Given the description of an element on the screen output the (x, y) to click on. 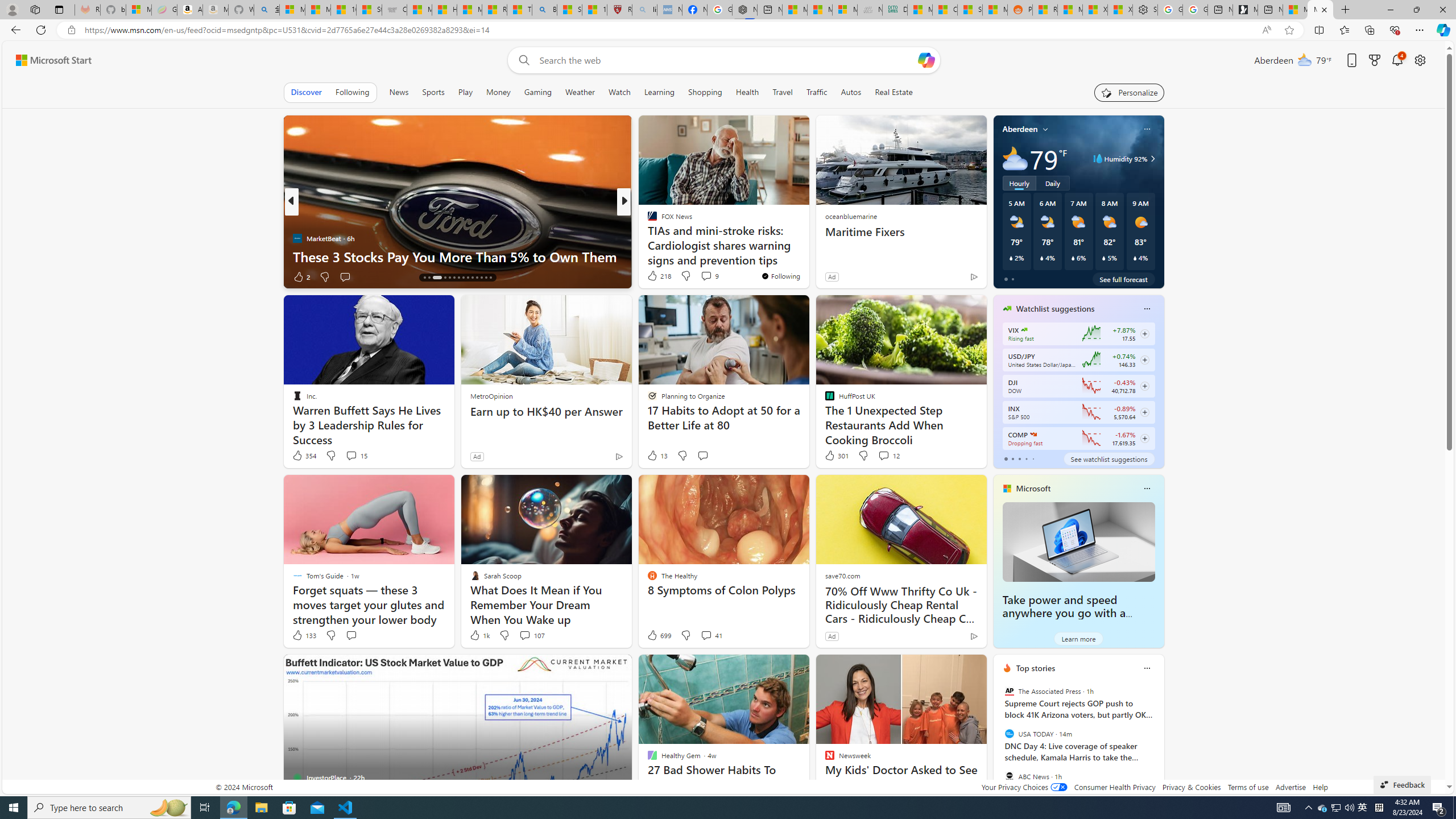
Terms of use (1247, 786)
AutomationID: tab-16 (428, 277)
previous (998, 741)
Mostly cloudy (1014, 158)
Money (497, 92)
Take power and speed anywhere you go with a Windows laptop. (1077, 541)
View comments 5 Comment (698, 276)
